Given the description of an element on the screen output the (x, y) to click on. 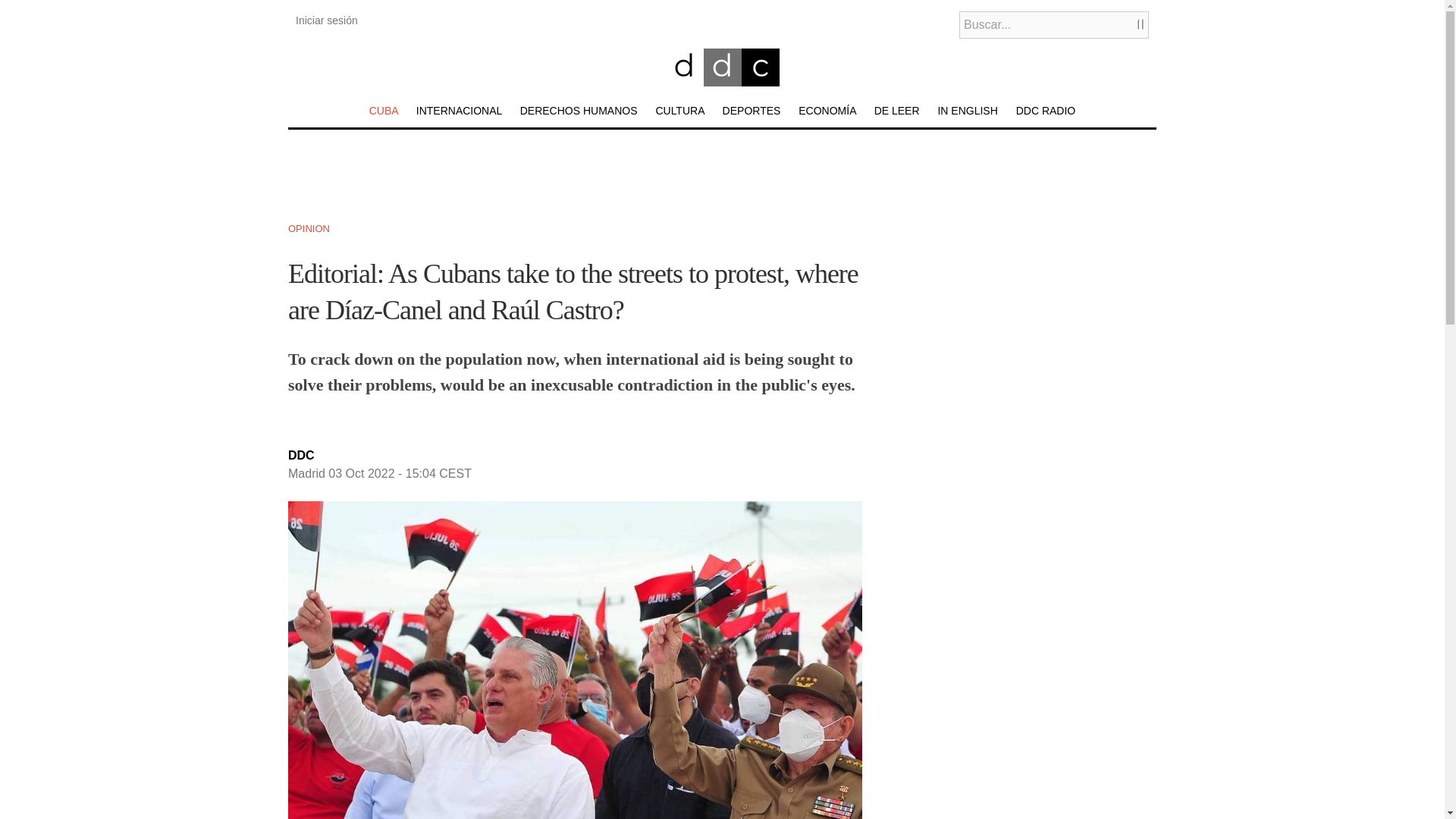
Page In English (967, 110)
Inicio (686, 85)
DE LEER (897, 110)
DDC RADIO (1045, 110)
DEPORTES (751, 110)
DIARIO DE CUBA (686, 85)
IN ENGLISH (967, 110)
Enter the terms you wish to search for. (1053, 24)
DERECHOS HUMANOS (578, 110)
Inicio (721, 82)
INTERNACIONAL (459, 110)
CUBA (383, 110)
CULTURA (679, 110)
